Given the description of an element on the screen output the (x, y) to click on. 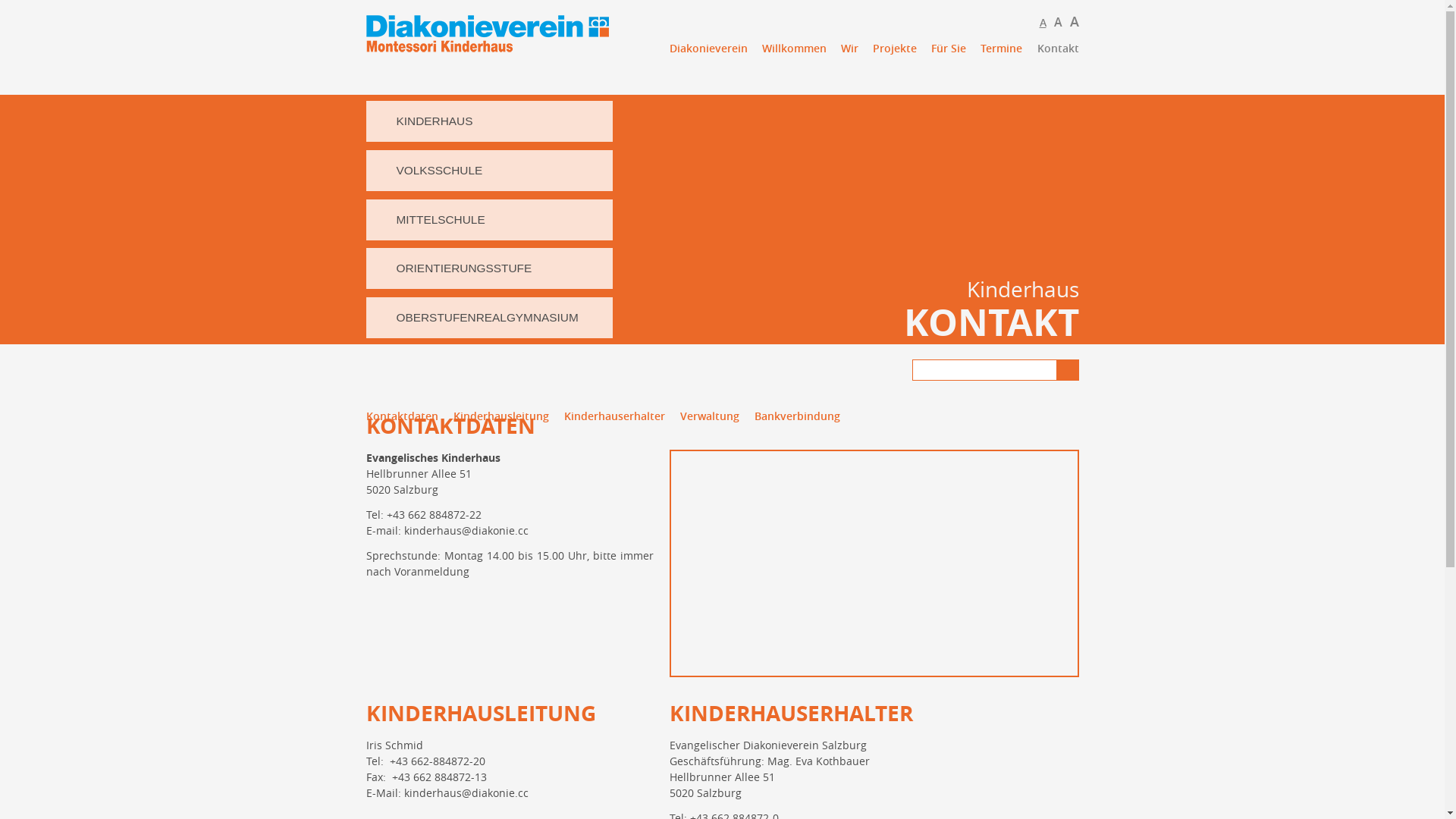
Kontaktdaten Element type: text (408, 415)
kinderhaus@diakonie.cc Element type: text (465, 530)
Kinderhausleitung Element type: text (508, 415)
MITTELSCHULE Element type: text (488, 219)
Bankverbindung Element type: text (803, 415)
Diakonieverein Element type: text (707, 47)
OBERSTUFENREALGYMNASIUM Element type: text (488, 317)
  Element type: text (668, 71)
Verwaltung Element type: text (716, 415)
ORIENTIERUNGSSTUFE Element type: text (488, 267)
Suchen Element type: text (1066, 369)
Kinderhaus Diakonieverein Salzburg Element type: hover (486, 38)
Willkommen Element type: text (794, 47)
Kinderhaus Diakonieverein Salzburg Element type: hover (509, 40)
KINDERHAUS Element type: text (488, 120)
Wir Element type: text (849, 47)
Projekte Element type: text (894, 47)
VOLKSSCHULE Element type: text (488, 170)
Termine Element type: text (1001, 47)
kinderhaus@diakonie.cc Element type: text (465, 792)
Kinderhauserhalter Element type: text (622, 415)
